Given the description of an element on the screen output the (x, y) to click on. 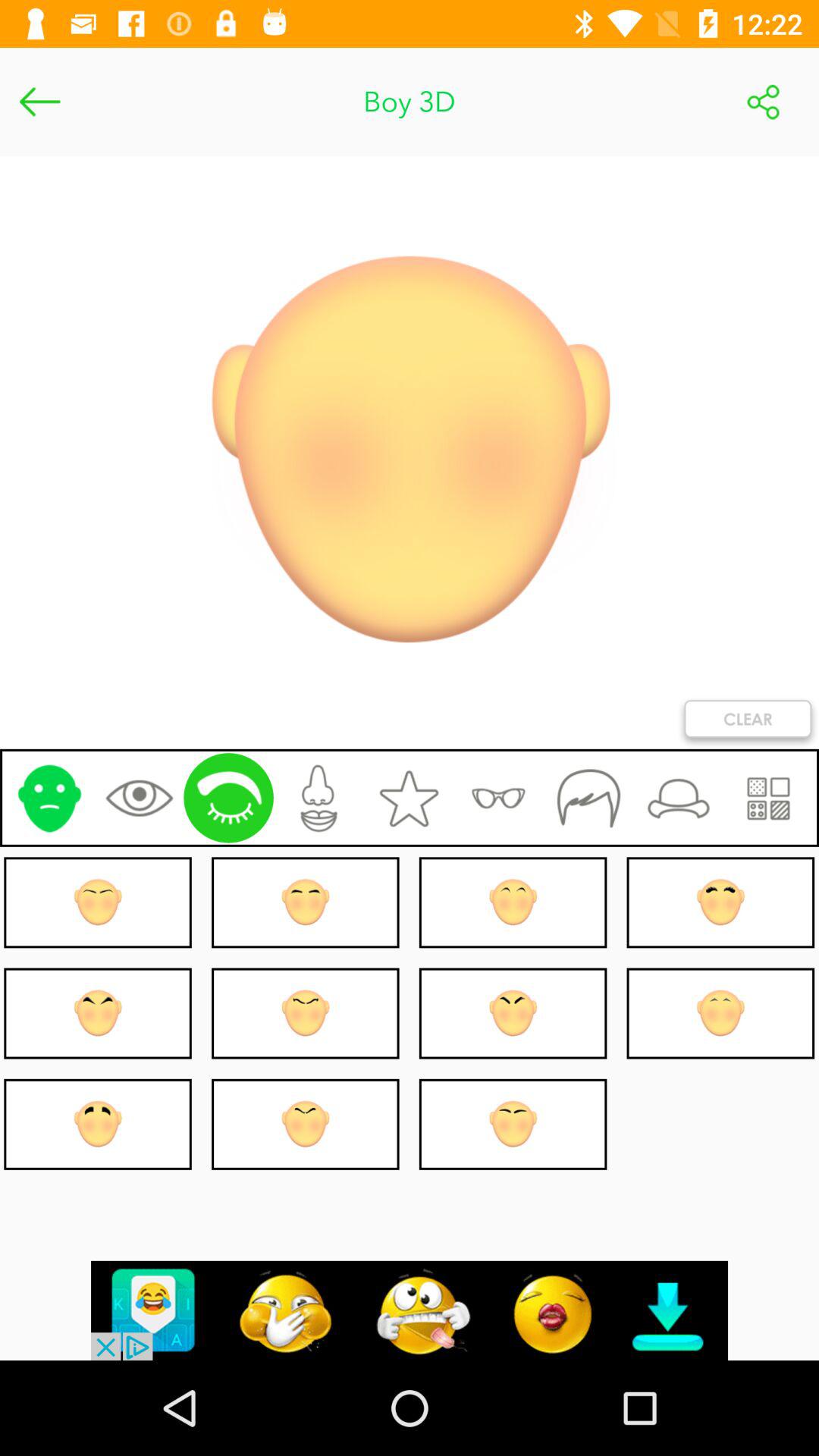
clear picture (747, 722)
